Given the description of an element on the screen output the (x, y) to click on. 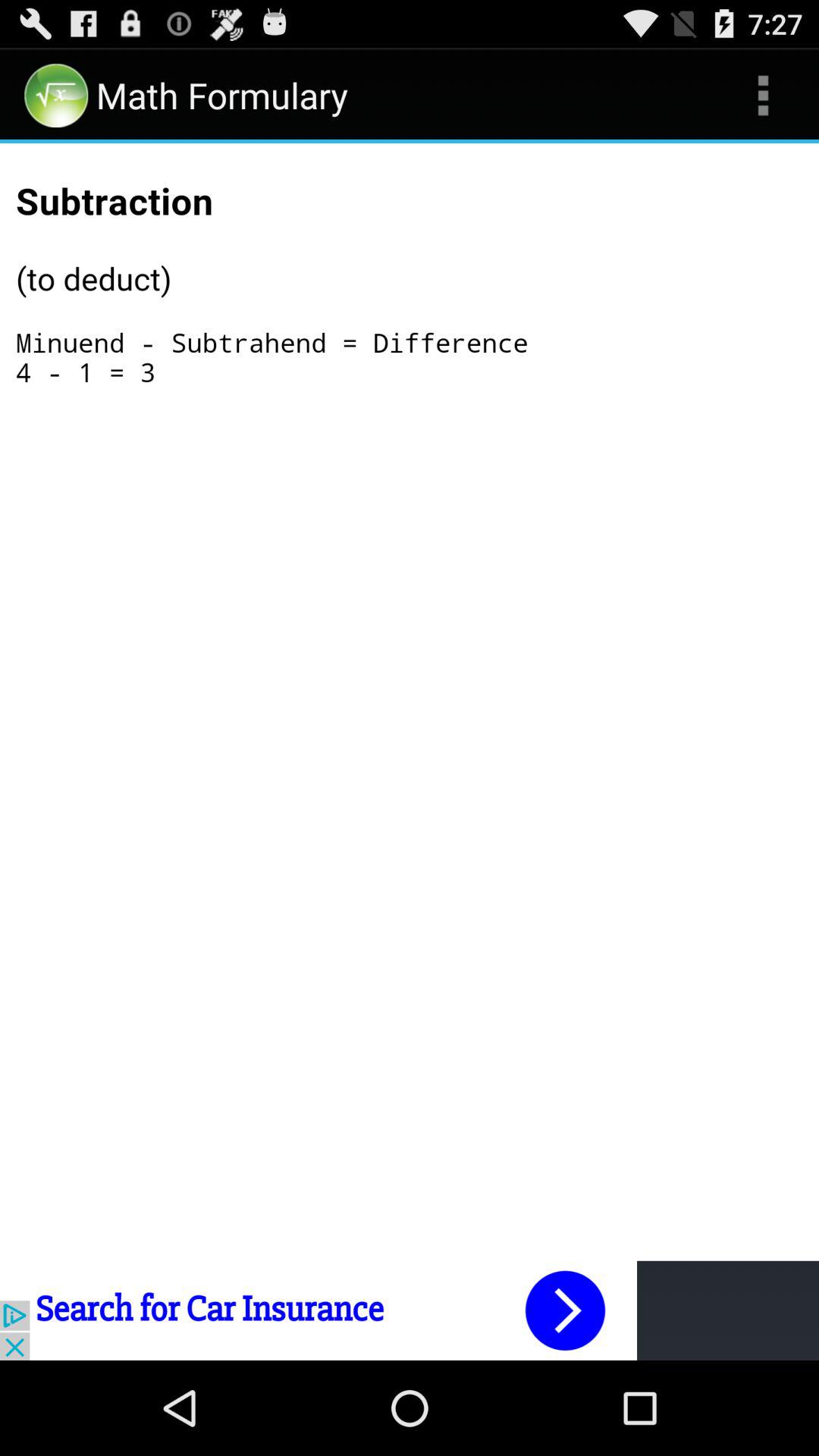
formula page (409, 306)
